Given the description of an element on the screen output the (x, y) to click on. 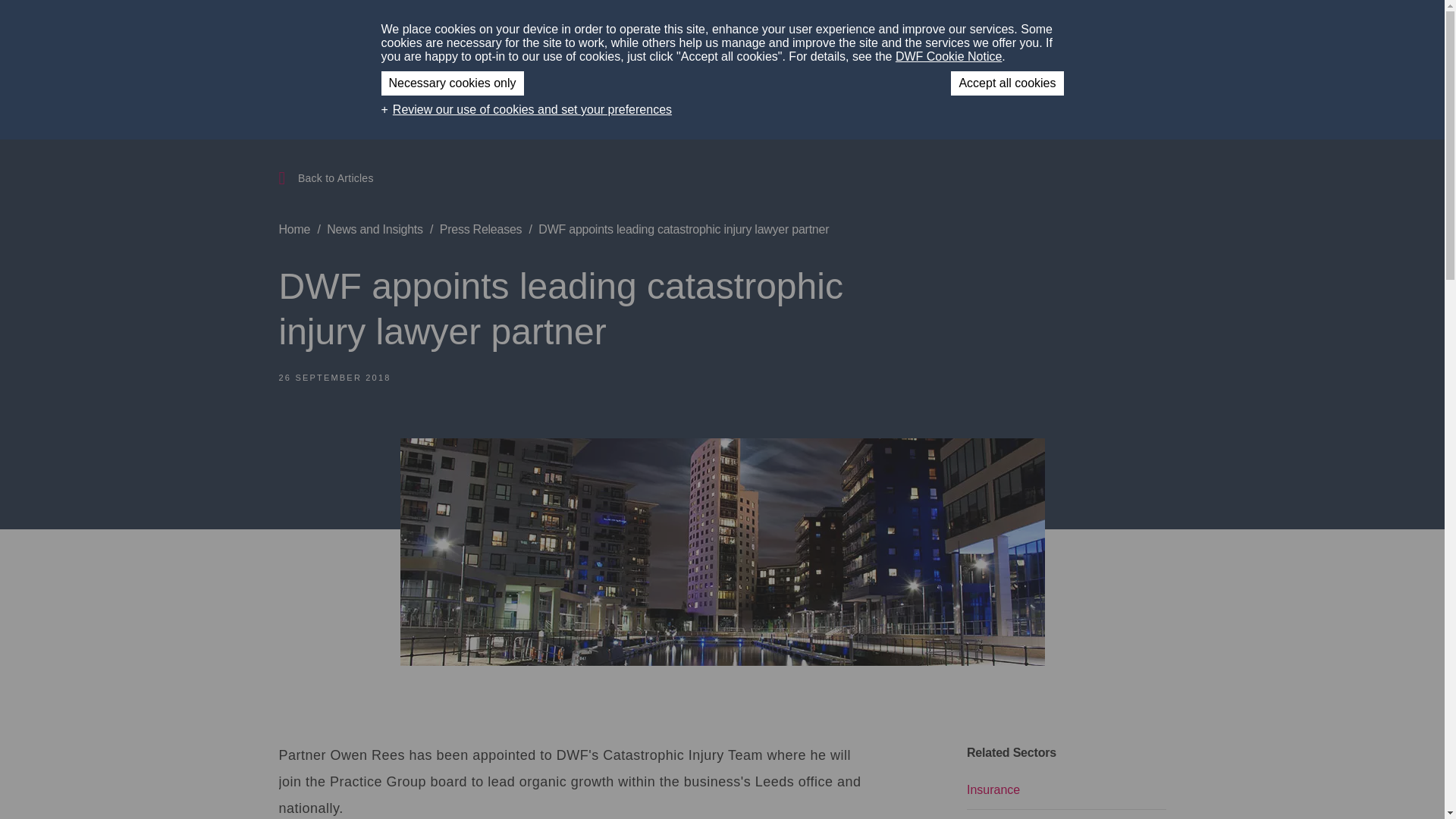
CAREERS (977, 30)
SUSTAINABILITY (813, 30)
LOCATIONS (898, 30)
ABOUT (728, 30)
HOME (671, 30)
CLIENT LOGIN (1063, 30)
